Given the description of an element on the screen output the (x, y) to click on. 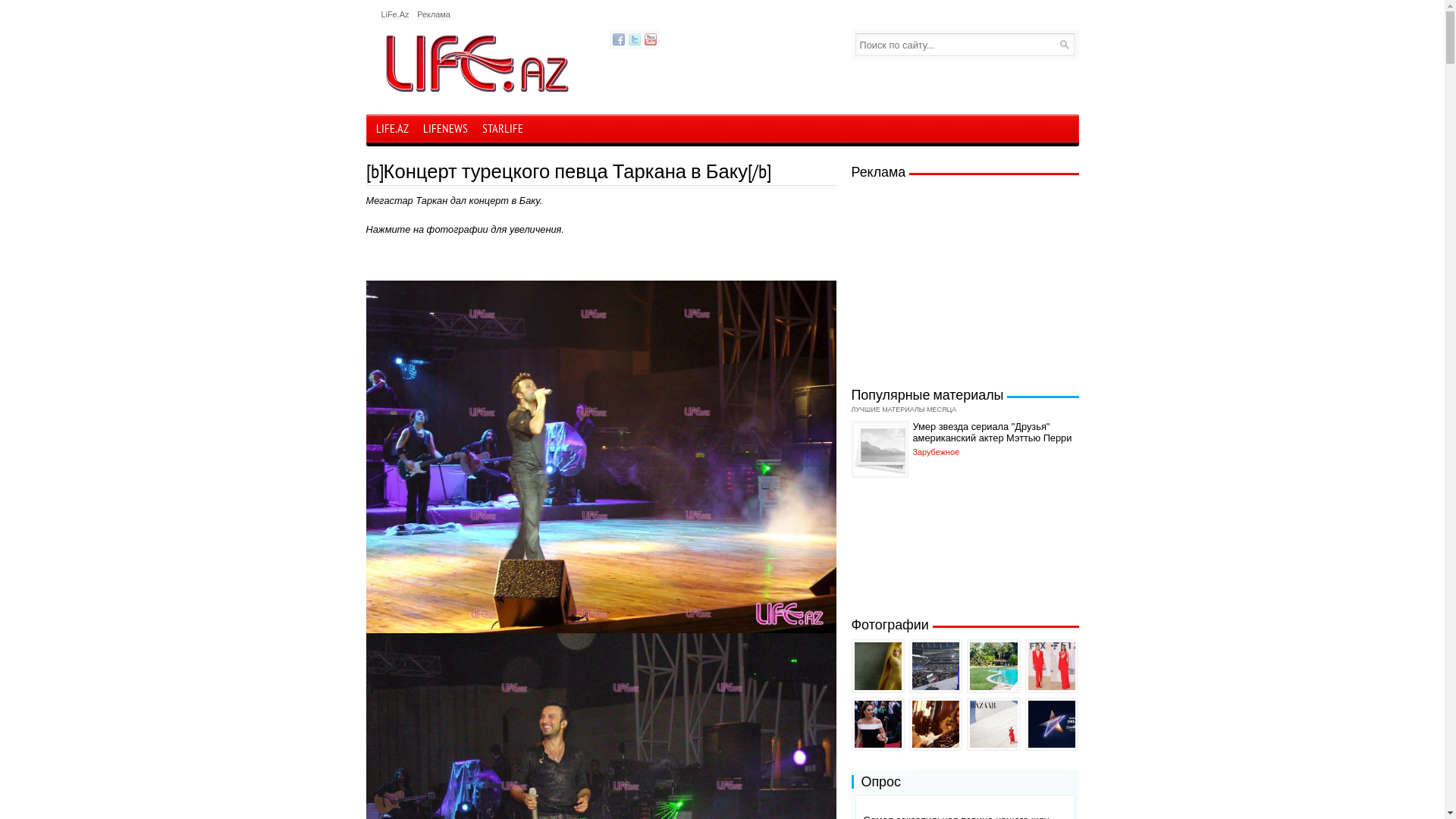
LIFE.AZ Element type: text (391, 128)
Twitter Element type: hover (633, 39)
LIFENEWS Element type: text (444, 130)
Facebook Element type: hover (618, 39)
Advertisement Element type: hover (962, 278)
LiFe.Az Element type: text (394, 14)
YouTube Element type: hover (650, 39)
STARLIFE Element type: text (501, 130)
